Given the description of an element on the screen output the (x, y) to click on. 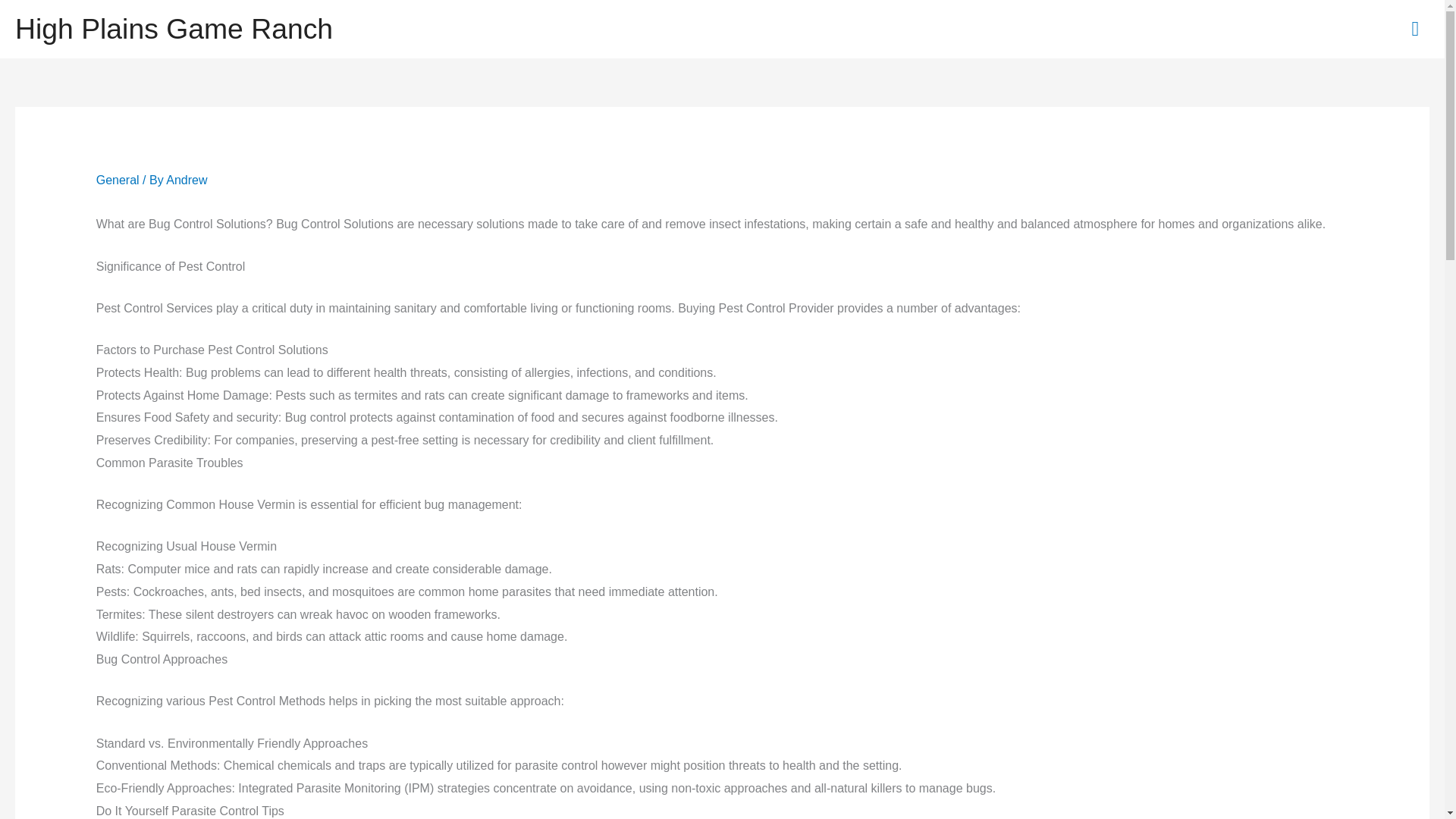
General (117, 179)
Andrew (185, 179)
View all posts by Andrew (185, 179)
High Plains Game Ranch (173, 29)
